Given the description of an element on the screen output the (x, y) to click on. 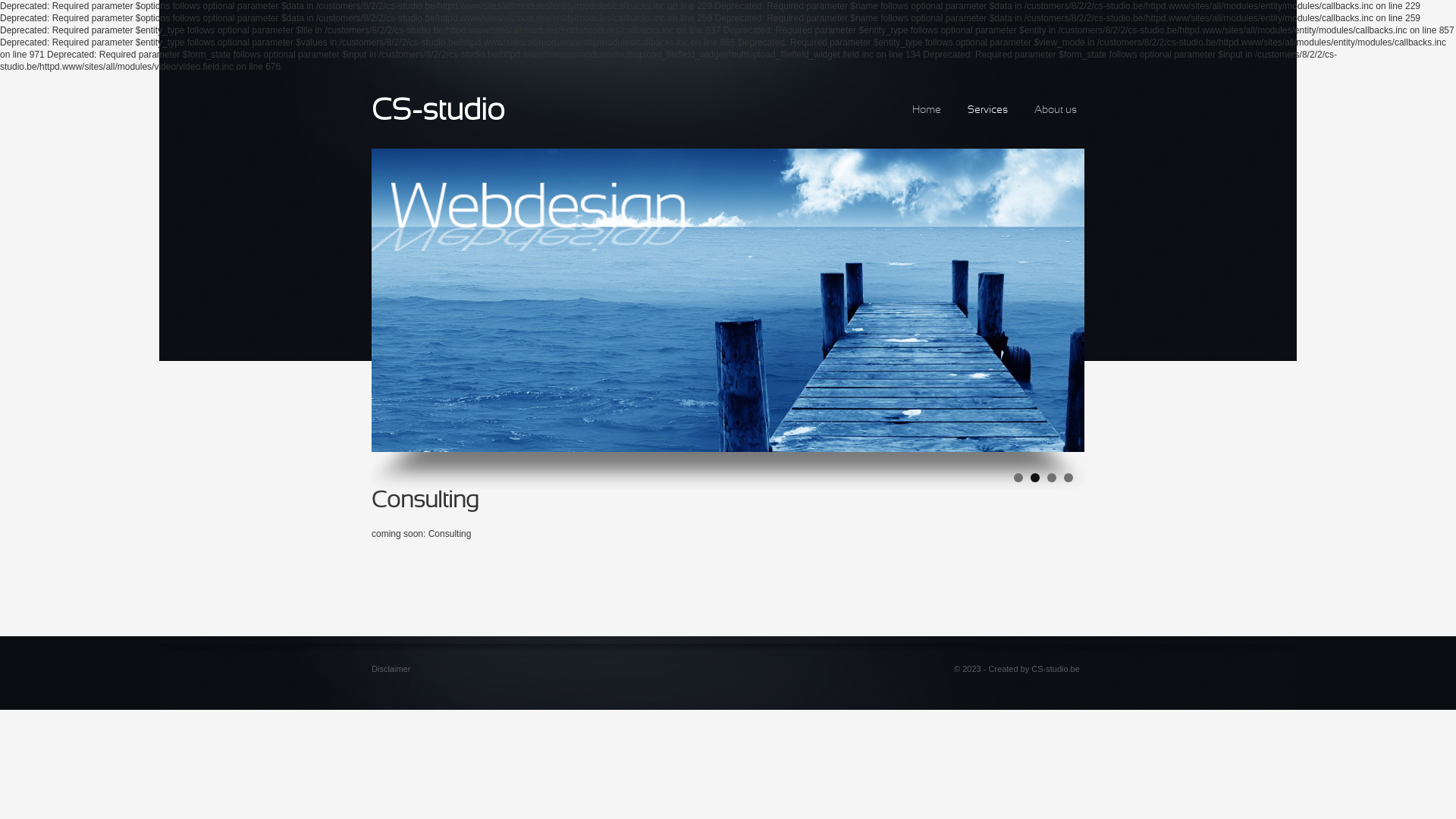
3 Element type: text (1051, 477)
Skip to main content Element type: text (41, 72)
2 Element type: text (1034, 477)
4 Element type: text (1068, 477)
Services Element type: text (987, 110)
About us Element type: text (1055, 110)
Disclaimer Element type: text (390, 668)
Home Element type: text (926, 110)
1 Element type: text (1017, 477)
CS-studio Element type: text (437, 111)
